Given the description of an element on the screen output the (x, y) to click on. 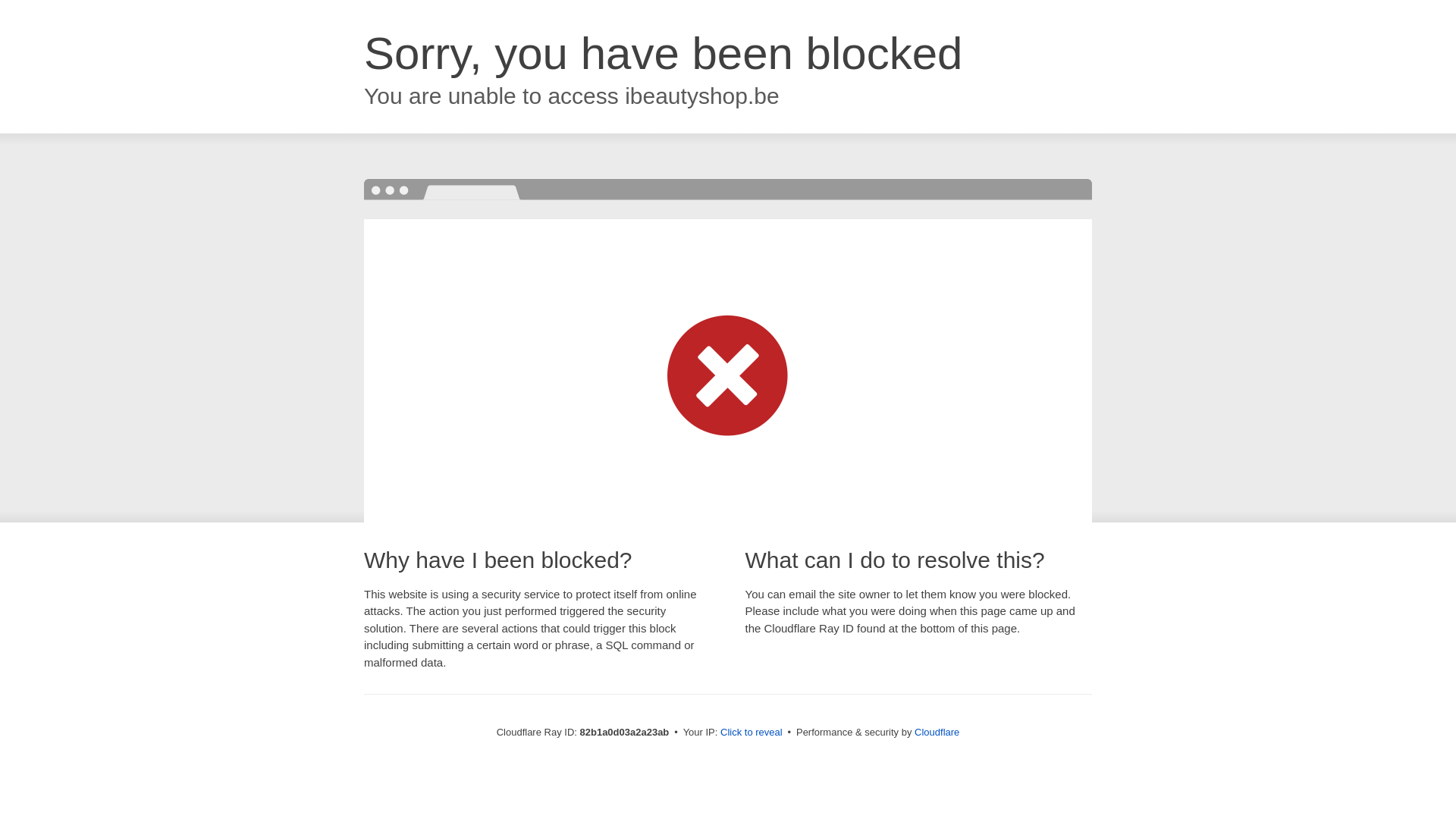
Click to reveal Element type: text (751, 732)
Cloudflare Element type: text (936, 731)
